Given the description of an element on the screen output the (x, y) to click on. 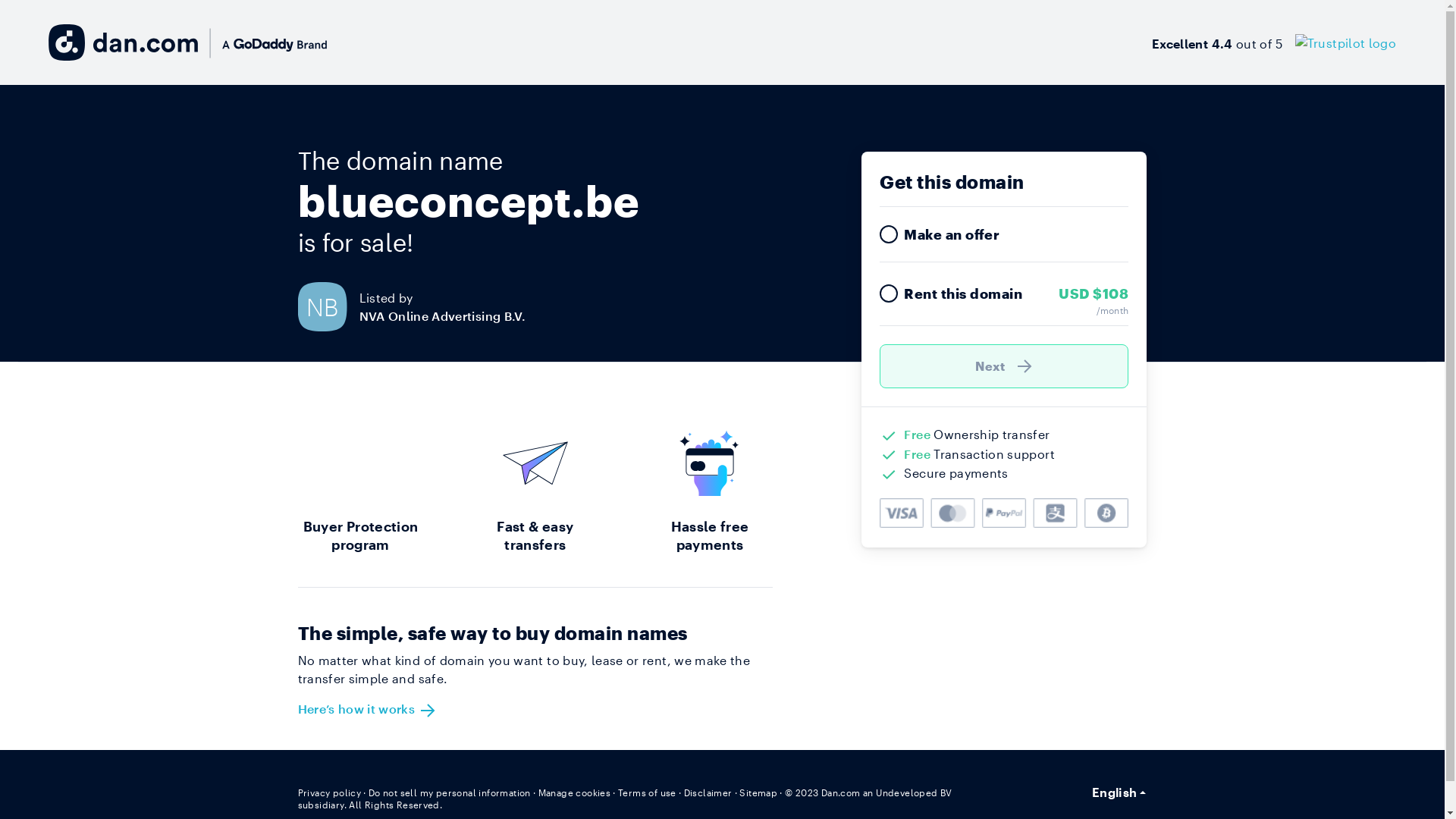
Manage cookies Element type: text (574, 792)
Excellent 4.4 out of 5 Element type: text (1273, 42)
Do not sell my personal information Element type: text (449, 792)
Terms of use Element type: text (647, 792)
Disclaimer Element type: text (708, 792)
Privacy policy Element type: text (328, 792)
Sitemap Element type: text (758, 792)
English Element type: text (1119, 792)
Next
) Element type: text (1003, 366)
